Given the description of an element on the screen output the (x, y) to click on. 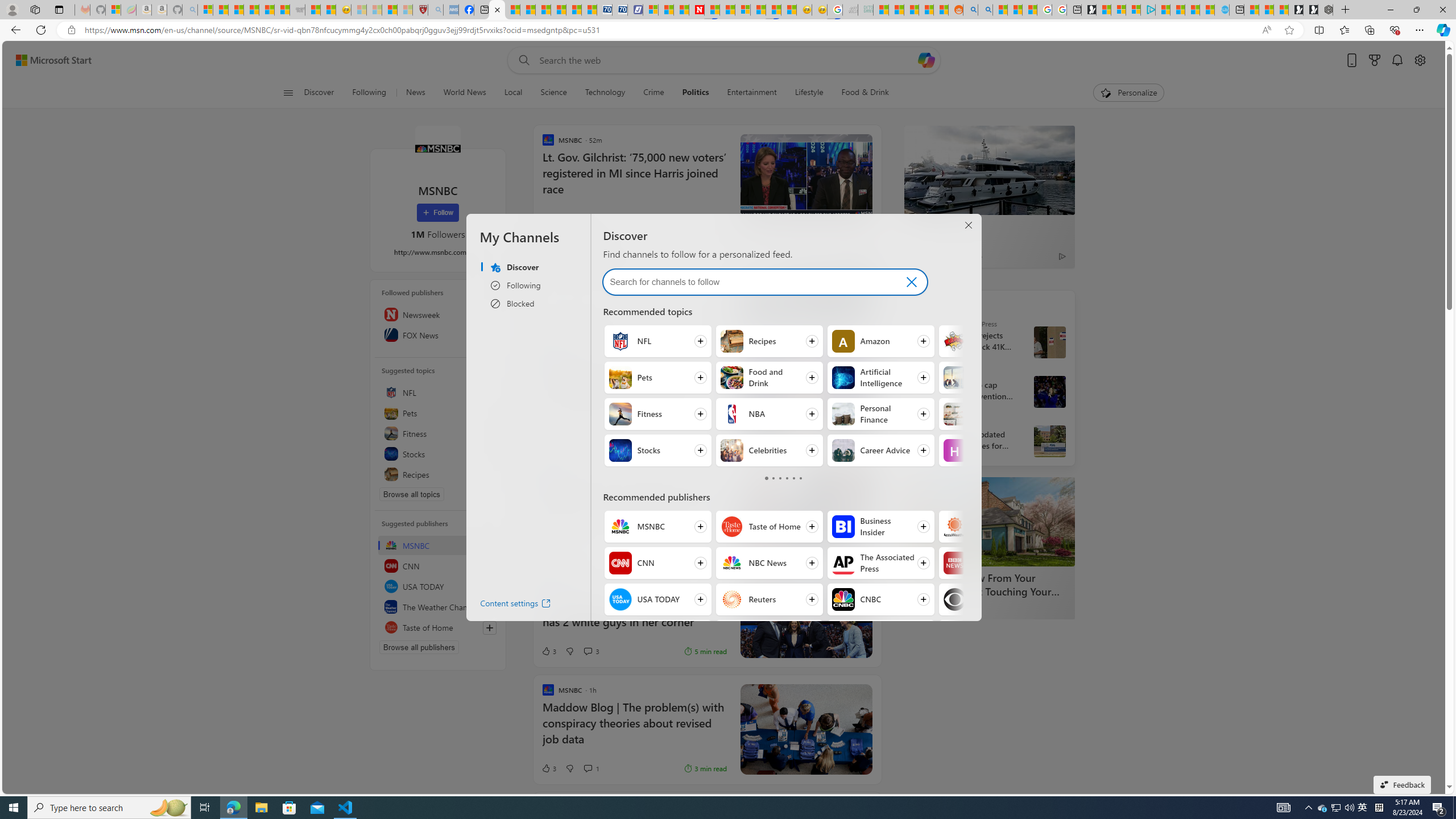
Follow this source (489, 627)
Follow Reuters (768, 599)
Follow Career Advice (880, 450)
Comics (954, 341)
Newsweek - News, Analysis, Politics, Business, Technology (696, 9)
Home | Sky Blue Bikes - Sky Blue Bikes (1221, 9)
Follow this source (489, 627)
Clear (910, 281)
Science (553, 92)
Skip to content (49, 59)
